Given the description of an element on the screen output the (x, y) to click on. 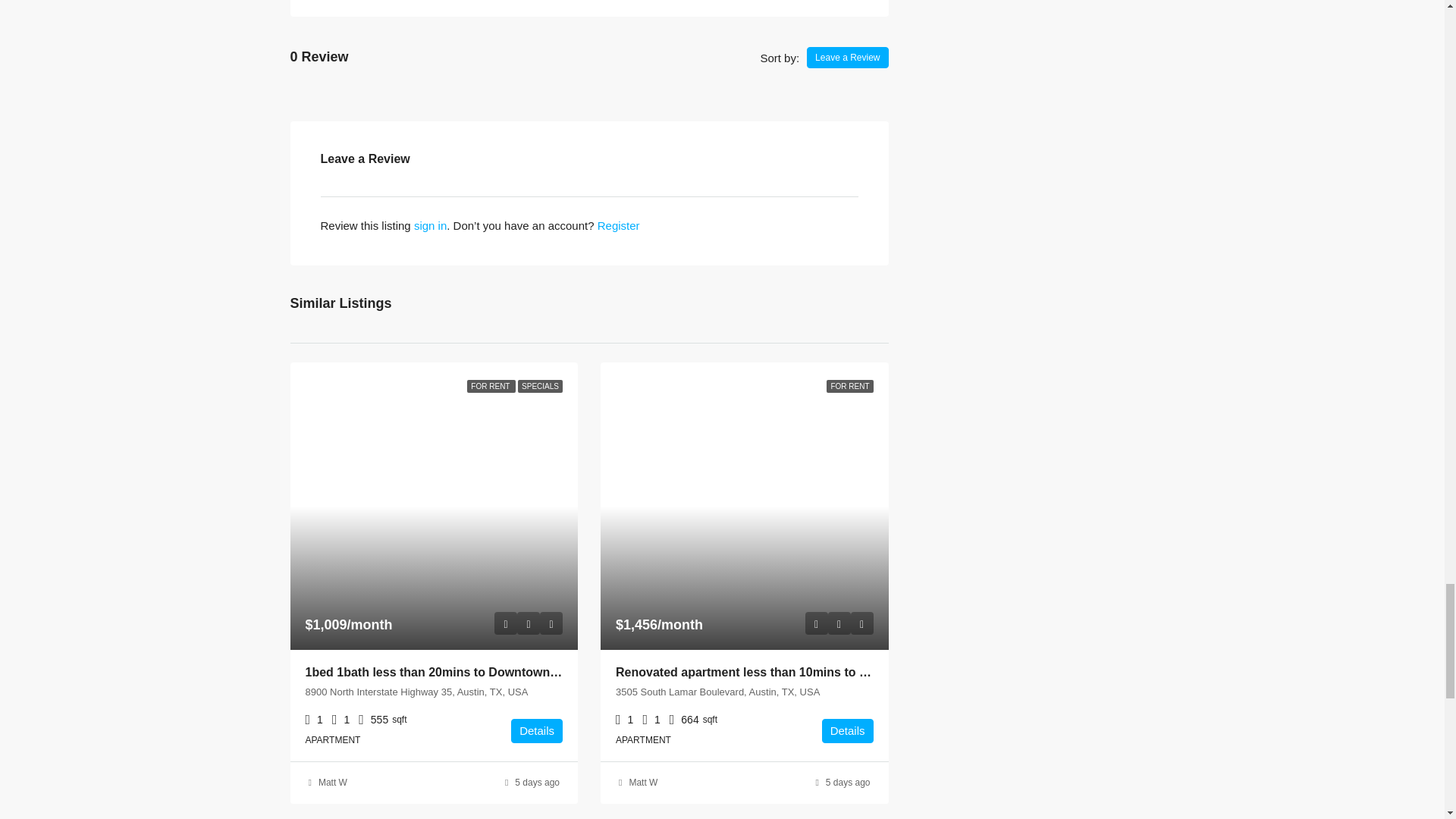
Add to Compare (861, 622)
Favourite (839, 622)
Preview (505, 622)
Add to Compare (551, 622)
Favourite (528, 622)
Preview (816, 622)
